Given the description of an element on the screen output the (x, y) to click on. 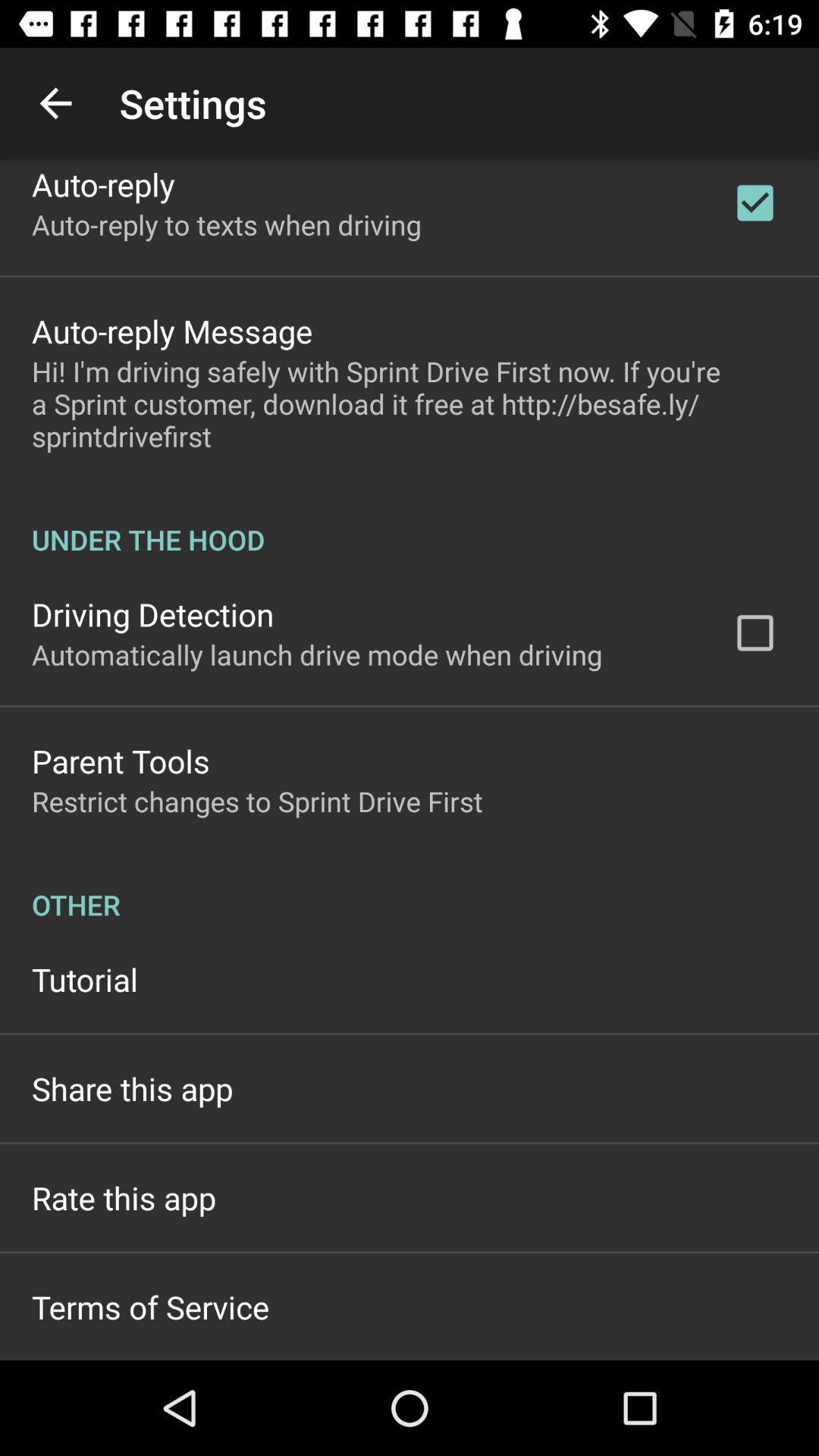
flip until the restrict changes to (256, 801)
